Given the description of an element on the screen output the (x, y) to click on. 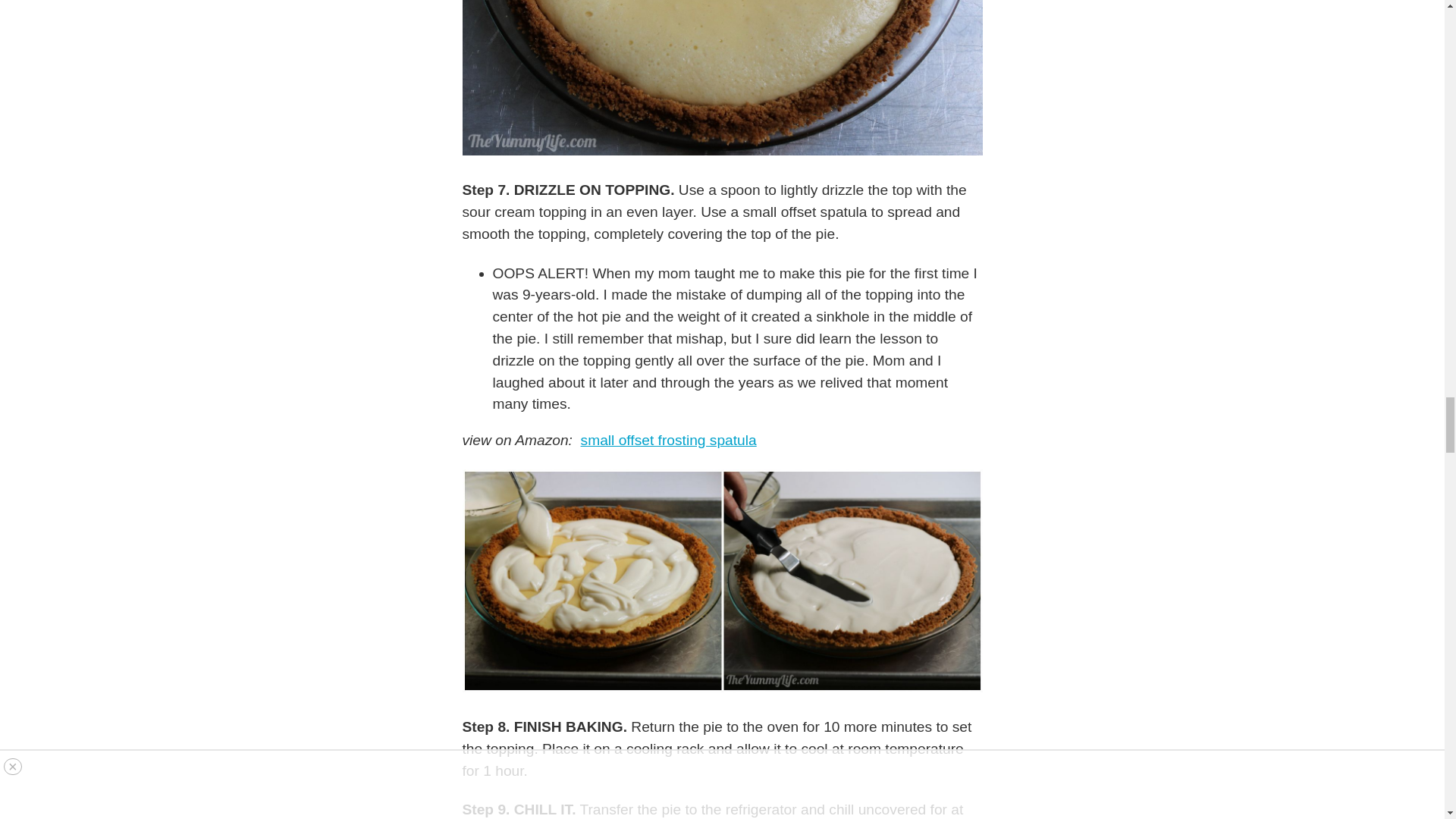
small offset frosting spatula (668, 439)
